Given the description of an element on the screen output the (x, y) to click on. 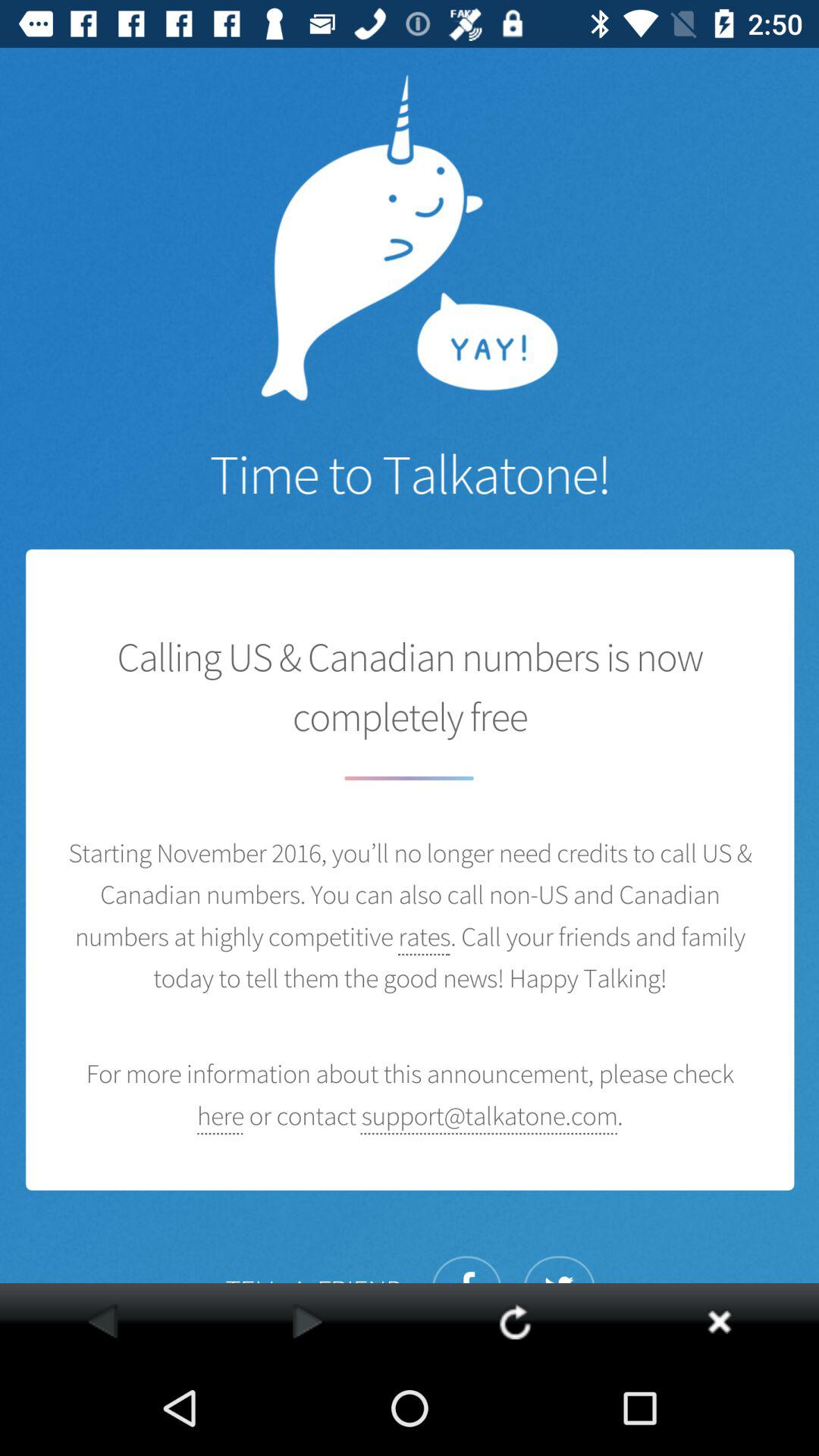
go to next screen (307, 1321)
